Given the description of an element on the screen output the (x, y) to click on. 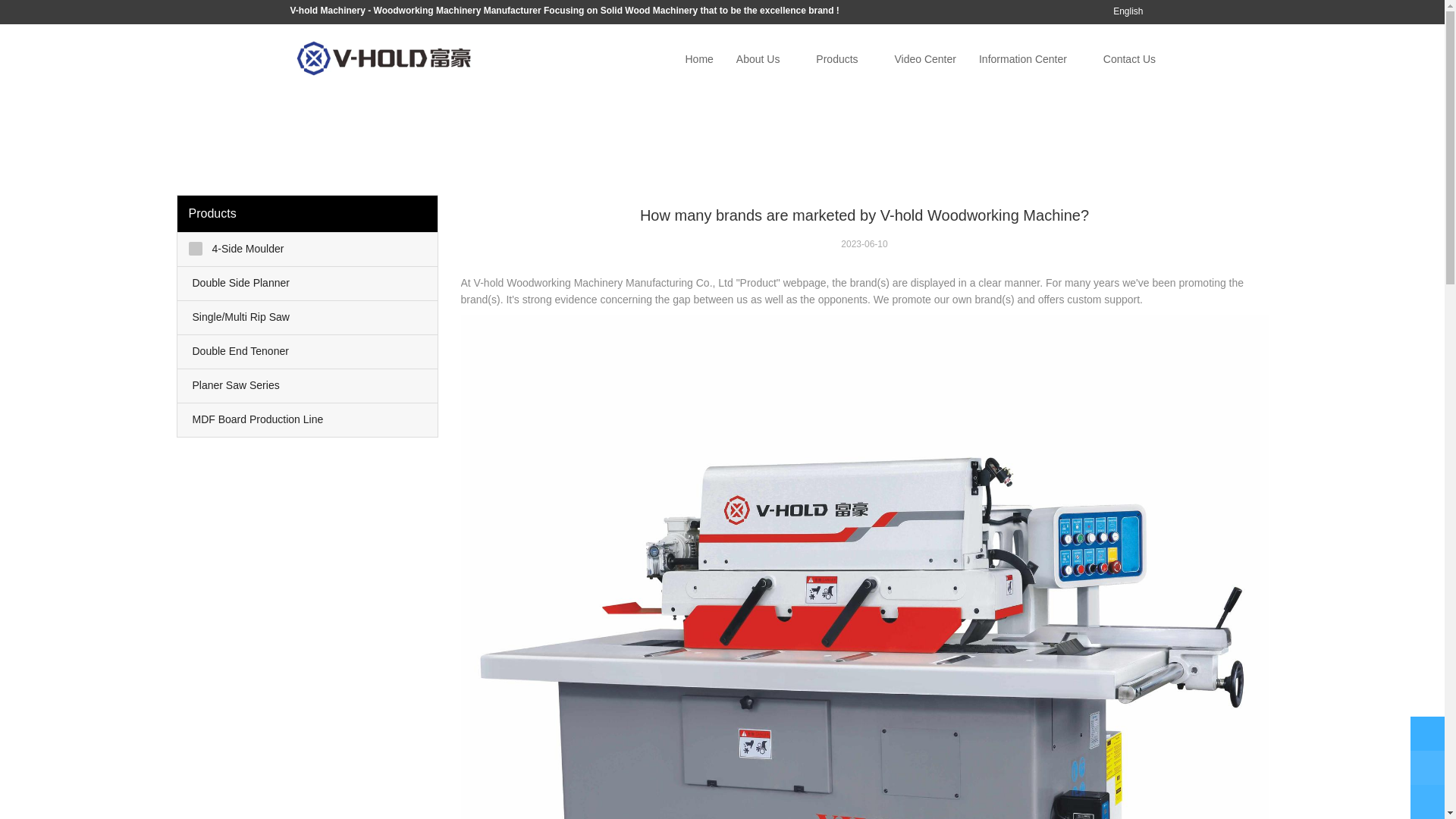
Products (837, 59)
Planer Saw Series (307, 385)
Contact Us (1129, 59)
Double End Tenoner (307, 351)
Video Center (924, 59)
MDF Board Production Line (307, 419)
About Us (758, 59)
4-Side Moulder (307, 249)
Double Side Planner (307, 283)
Information Center (1023, 59)
